Given the description of an element on the screen output the (x, y) to click on. 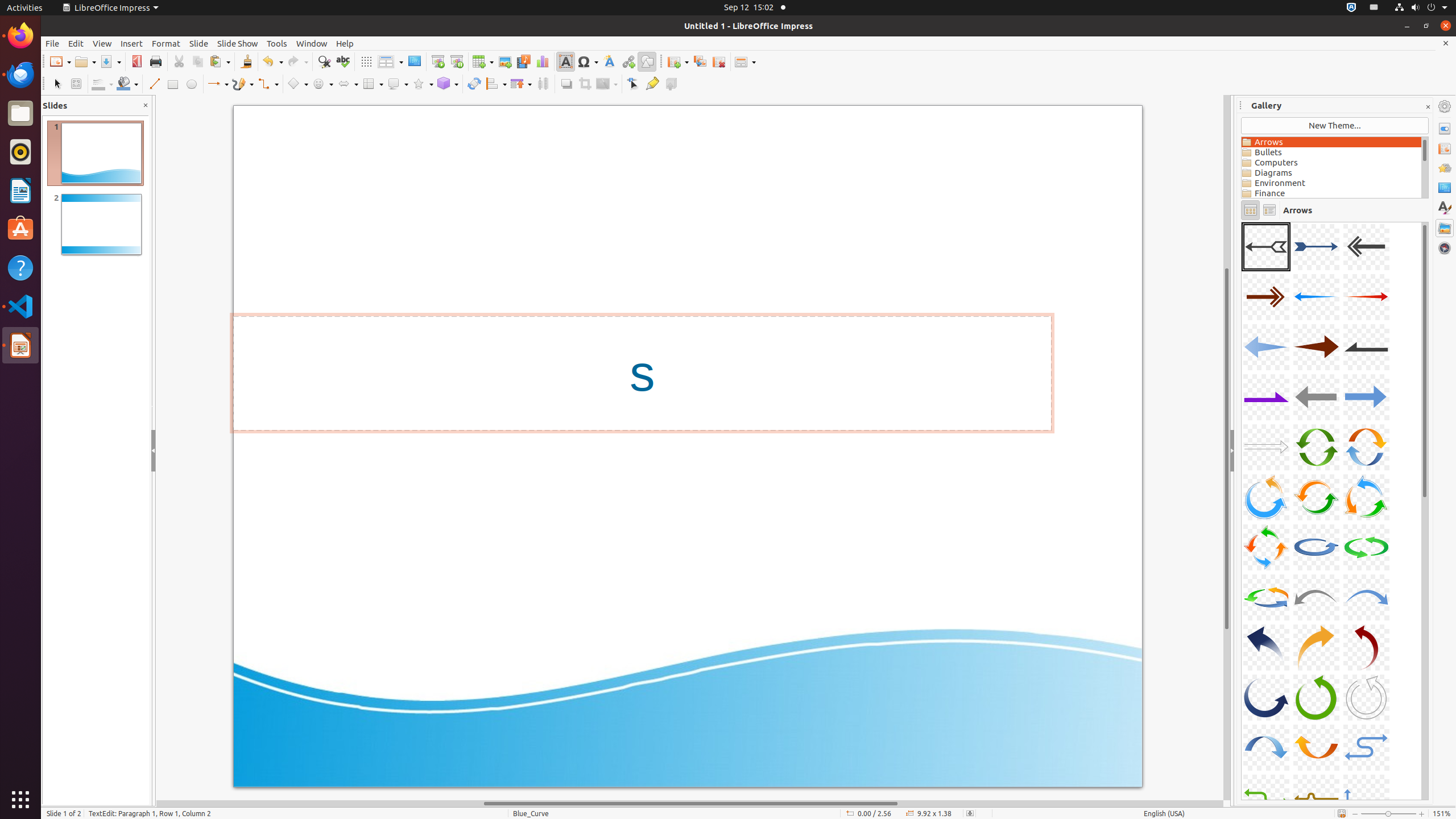
A10-Arrow-Purple-Right Element type: list-item (1265, 396)
A13-Arrow-Gray-Right Element type: list-item (1265, 446)
A29-CurvedArrow-Green Element type: list-item (1315, 696)
Slide Show Element type: menu (237, 43)
A21-CircleArrow-Green Element type: list-item (1365, 546)
